Given the description of an element on the screen output the (x, y) to click on. 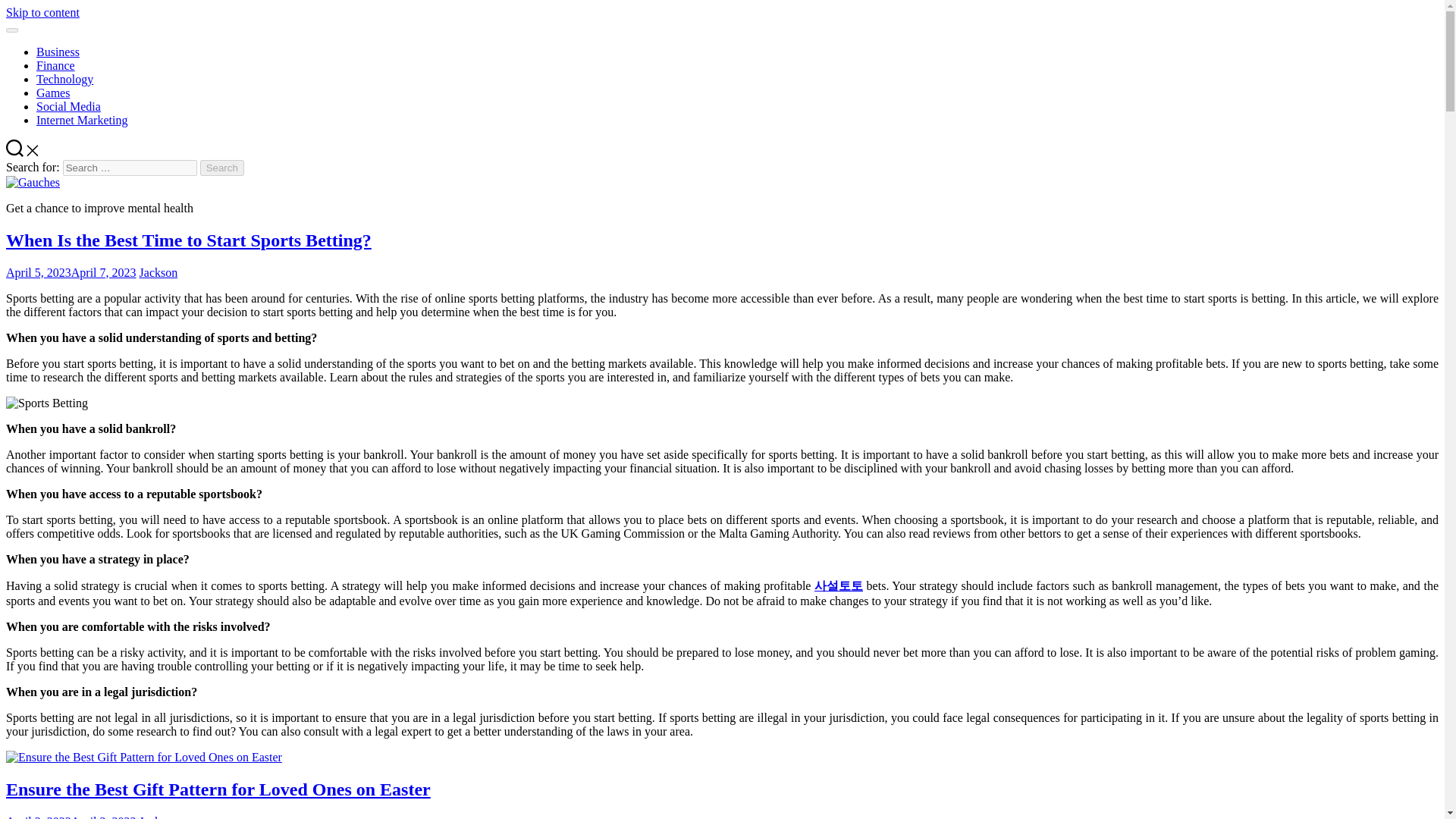
Ensure the Best Gift Pattern for Loved Ones on Easter (217, 789)
Skip to content (42, 11)
Internet Marketing (82, 119)
Search (222, 167)
Search (222, 167)
April 3, 2023April 3, 2023 (70, 816)
Finance (55, 65)
When Is the Best Time to Start Sports Betting? (188, 240)
Technology (64, 78)
Search (222, 167)
Social Media (68, 106)
Games (52, 92)
April 5, 2023April 7, 2023 (70, 272)
Jackson (158, 816)
Jackson (158, 272)
